Given the description of an element on the screen output the (x, y) to click on. 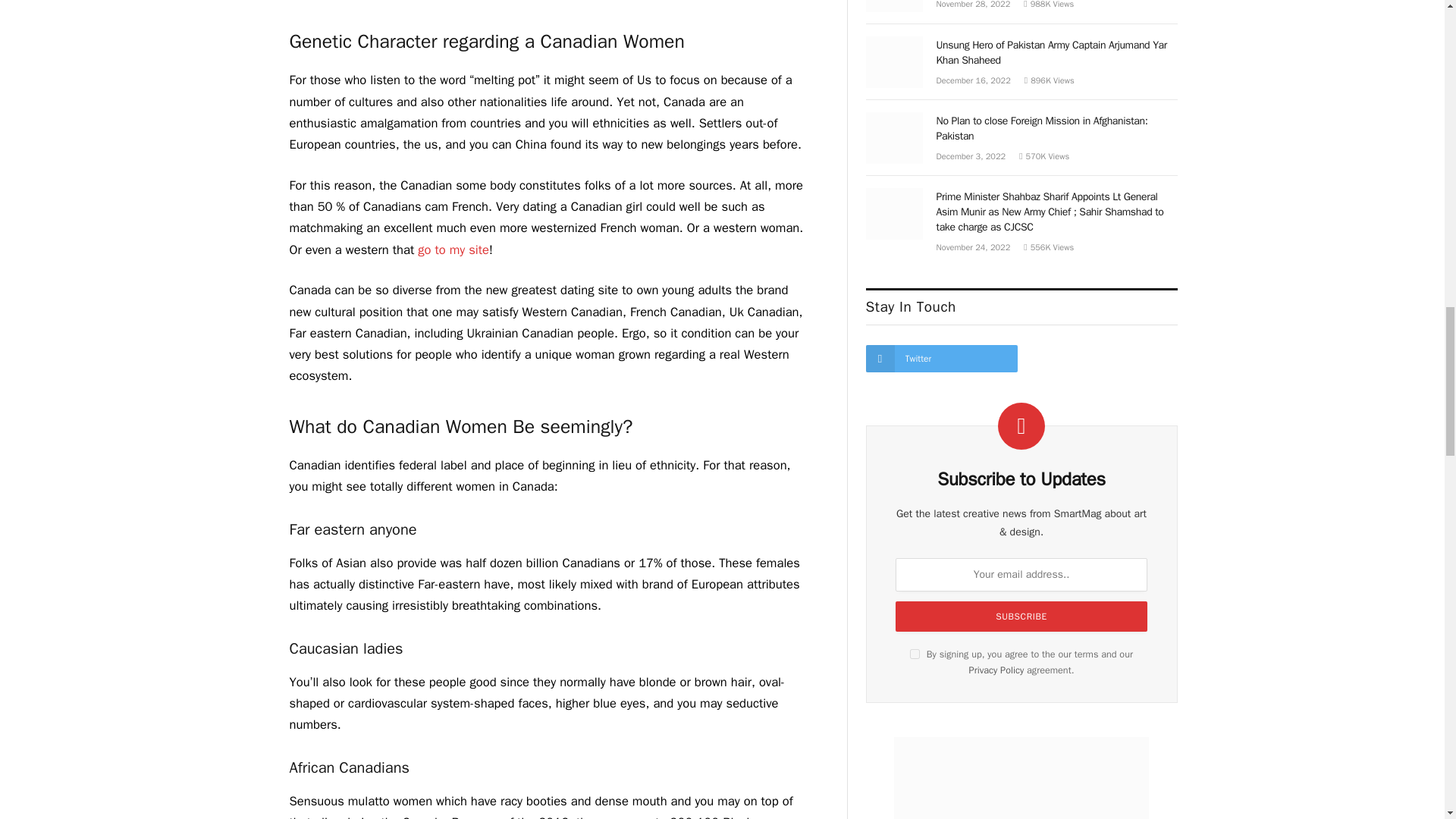
on (915, 654)
Subscribe (1021, 616)
